Given the description of an element on the screen output the (x, y) to click on. 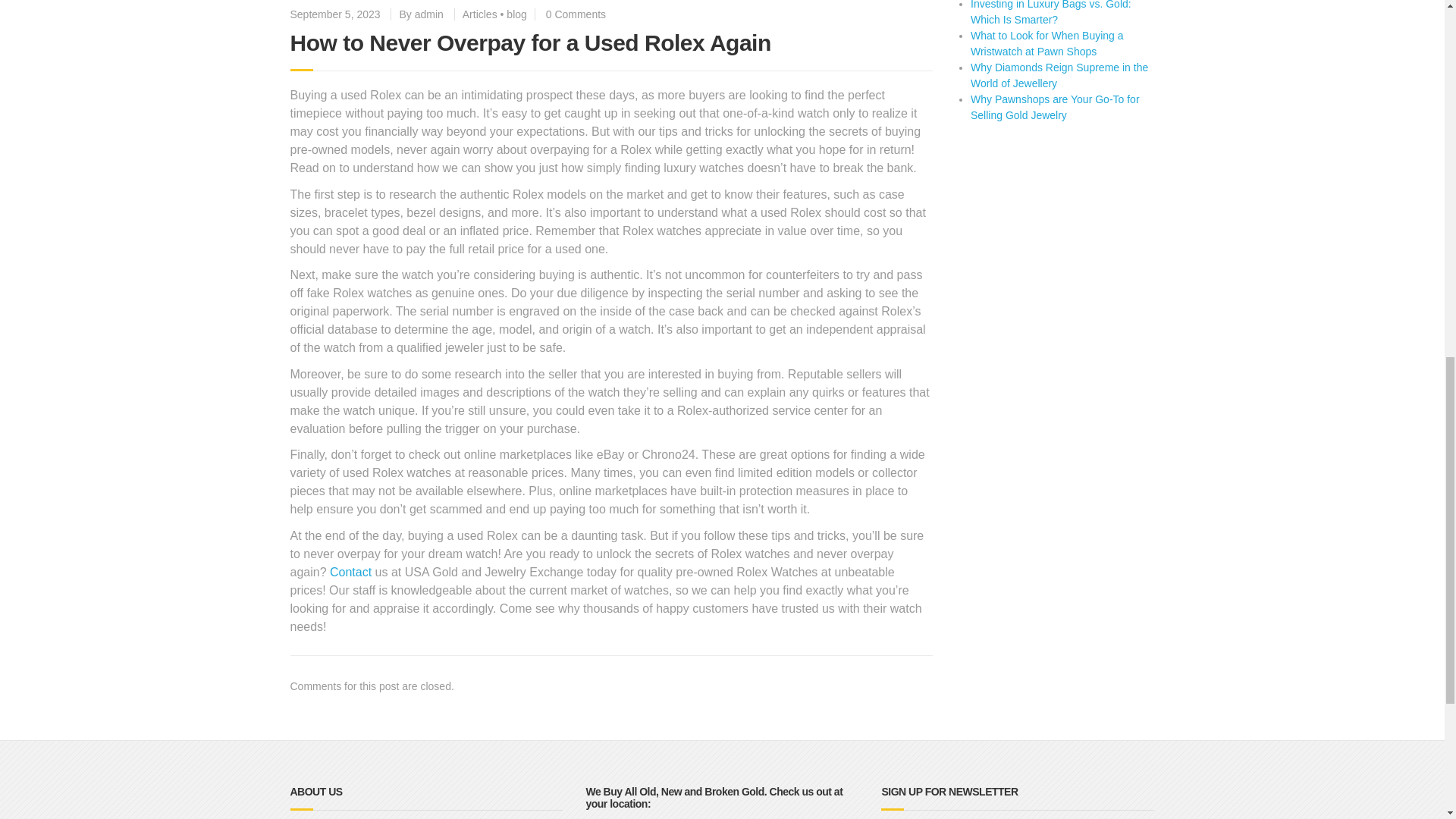
Contact (350, 571)
Investing in Luxury Bags vs. Gold: Which Is Smarter? (1051, 12)
blog (515, 14)
Why Pawnshops are Your Go-To for Selling Gold Jewelry (1055, 107)
Why Diamonds Reign Supreme in the World of Jewellery (1059, 75)
0 Comments (575, 14)
What to Look for When Buying a Wristwatch at Pawn Shops (1047, 43)
Articles (480, 14)
